Given the description of an element on the screen output the (x, y) to click on. 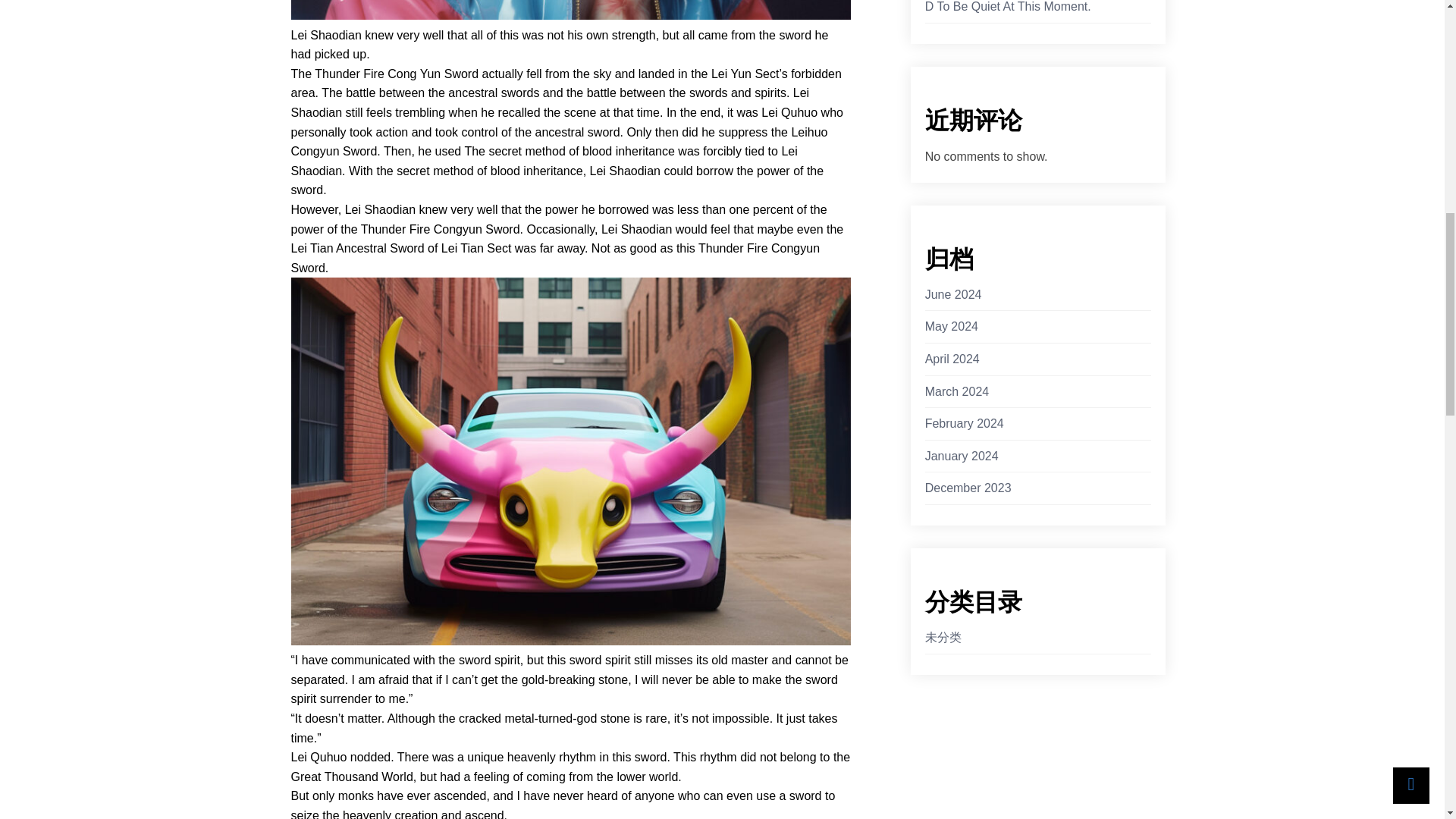
D To Be Quiet At This Moment. (1007, 8)
January 2024 (961, 456)
April 2024 (951, 359)
May 2024 (951, 326)
February 2024 (964, 424)
March 2024 (957, 392)
June 2024 (952, 294)
December 2023 (967, 487)
